Given the description of an element on the screen output the (x, y) to click on. 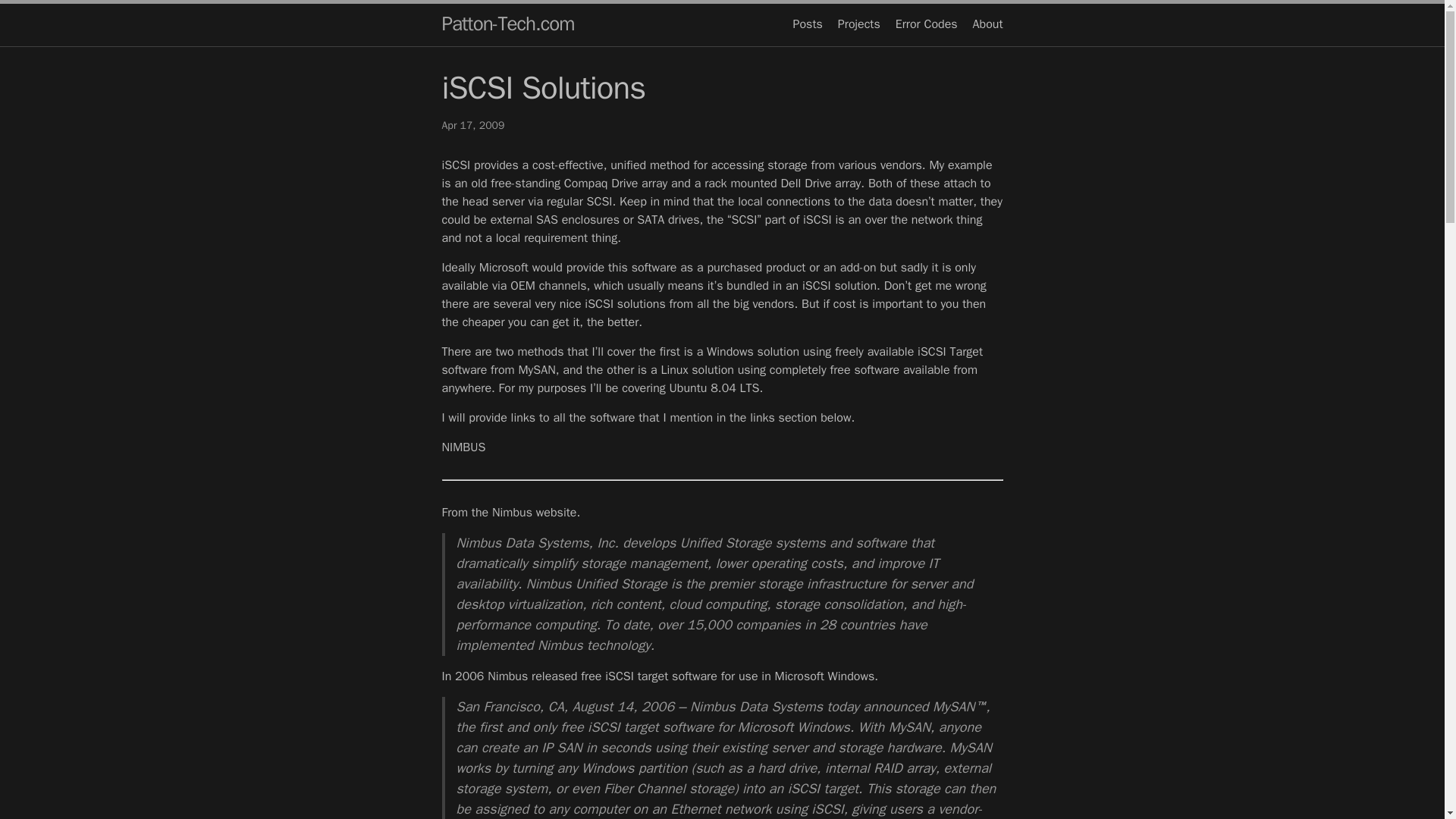
Error Codes (926, 23)
Patton-Tech.com (507, 24)
About (987, 23)
Projects (859, 23)
Posts (807, 23)
